Given the description of an element on the screen output the (x, y) to click on. 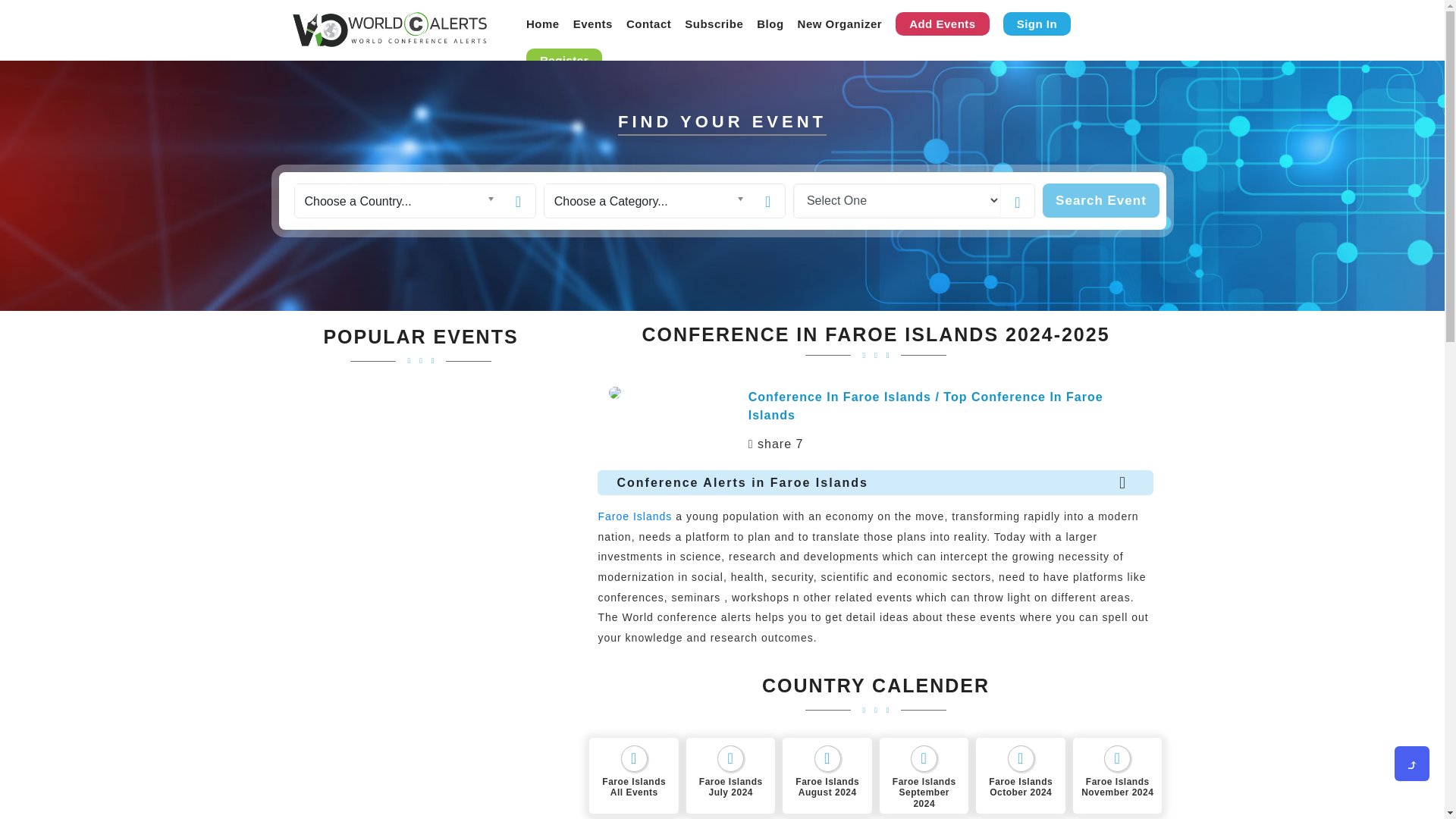
Faroe Islands September 2024 (924, 775)
Faroe Islands August 2024 (827, 775)
Faroe Islands July 2024 (730, 775)
Choose a Country... (397, 200)
Faroe Islands October 2024 (1020, 775)
Search Event (1100, 200)
Choose a Category... (647, 200)
New Organizer (839, 23)
Register (563, 60)
Sign In (1037, 24)
Add Events (942, 24)
